Given the description of an element on the screen output the (x, y) to click on. 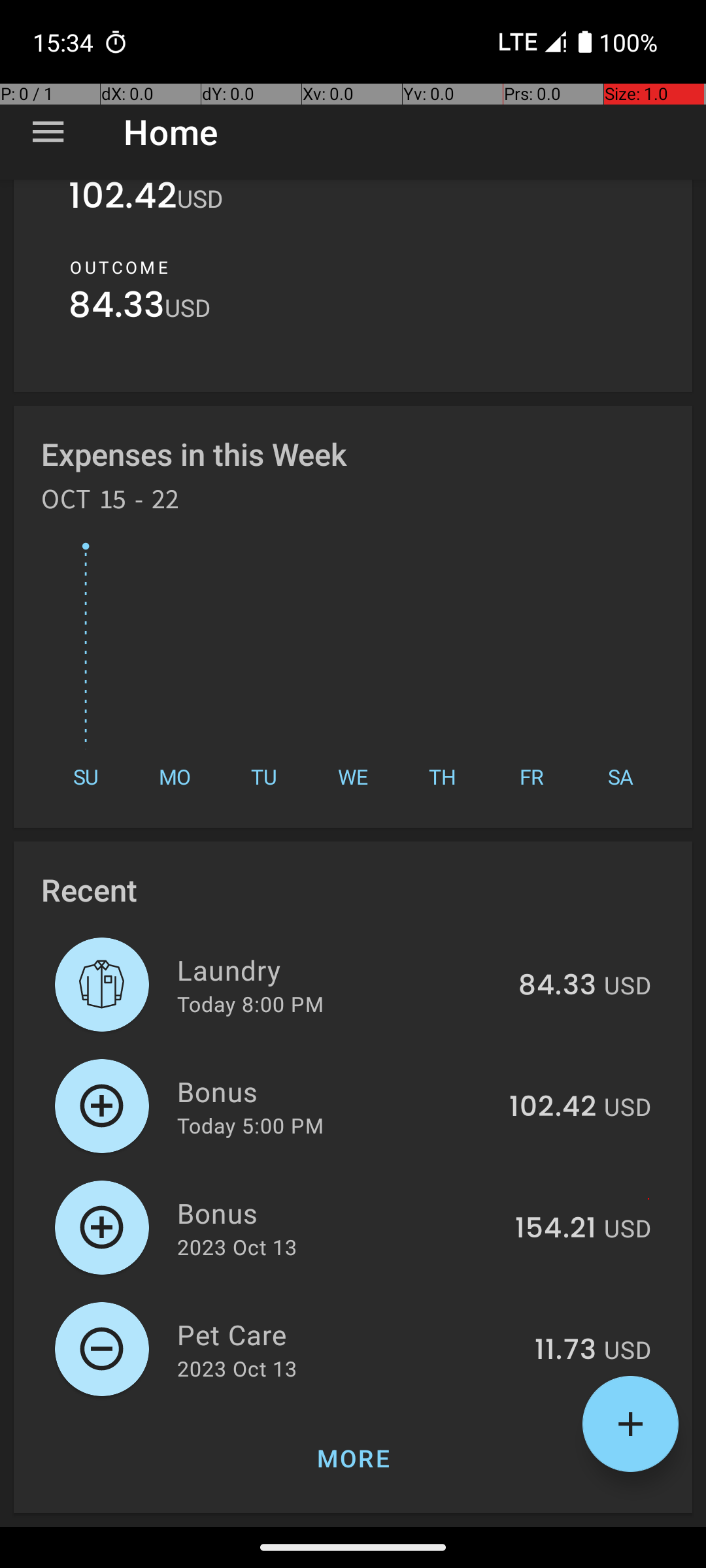
102.42 Element type: android.widget.TextView (122, 203)
84.33 Element type: android.widget.TextView (116, 307)
Laundry Element type: android.widget.TextView (340, 969)
Bonus Element type: android.widget.TextView (335, 1091)
154.21 Element type: android.widget.TextView (555, 1228)
Pet Care Element type: android.widget.TextView (348, 1334)
11.73 Element type: android.widget.TextView (565, 1350)
